Given the description of an element on the screen output the (x, y) to click on. 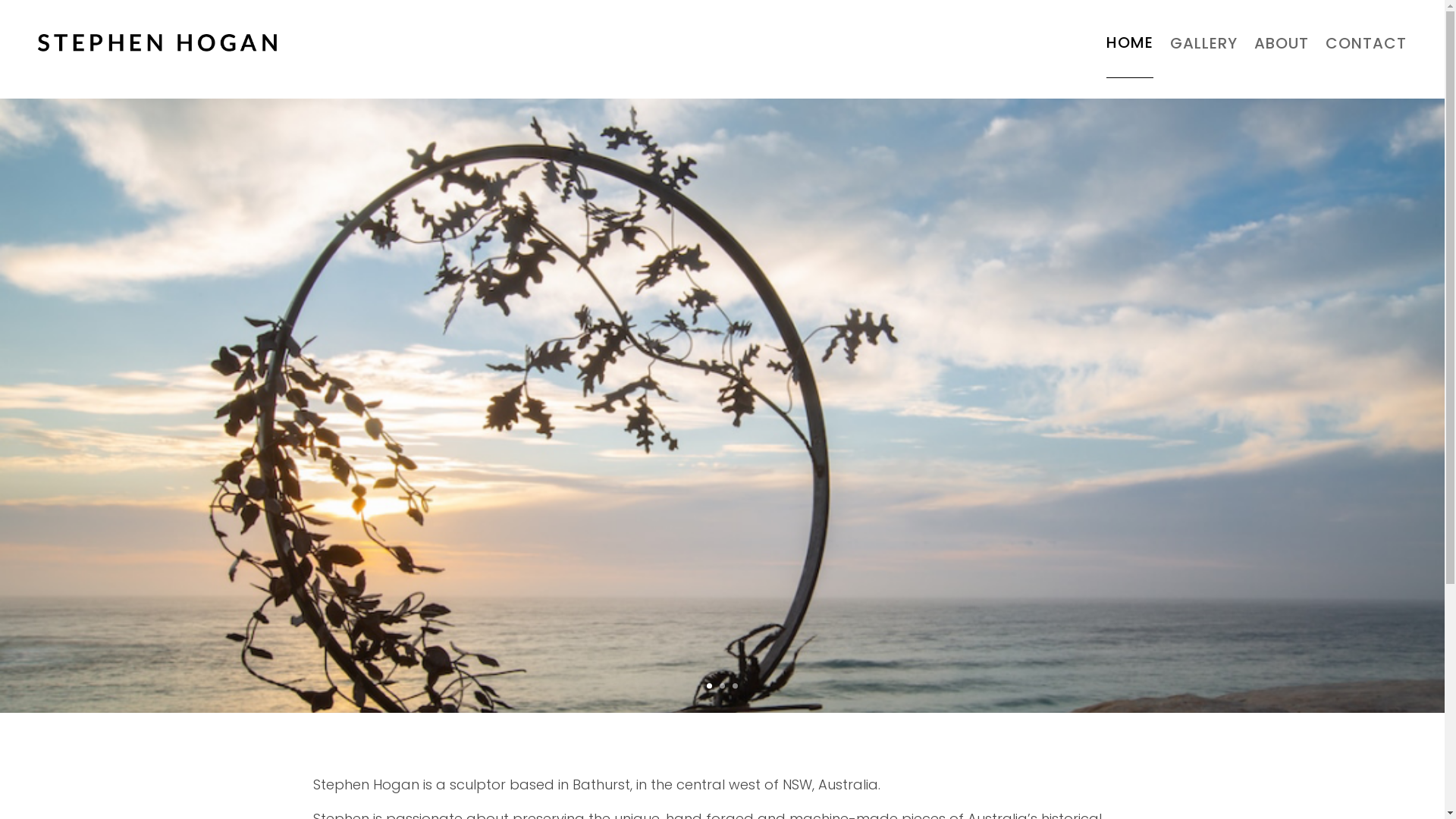
GALLERY Element type: text (1203, 42)
1 Element type: text (709, 684)
2 Element type: text (721, 684)
HOME Element type: text (1129, 42)
CONTACT Element type: text (1365, 42)
3 Element type: text (734, 684)
ABOUT Element type: text (1281, 42)
